Given the description of an element on the screen output the (x, y) to click on. 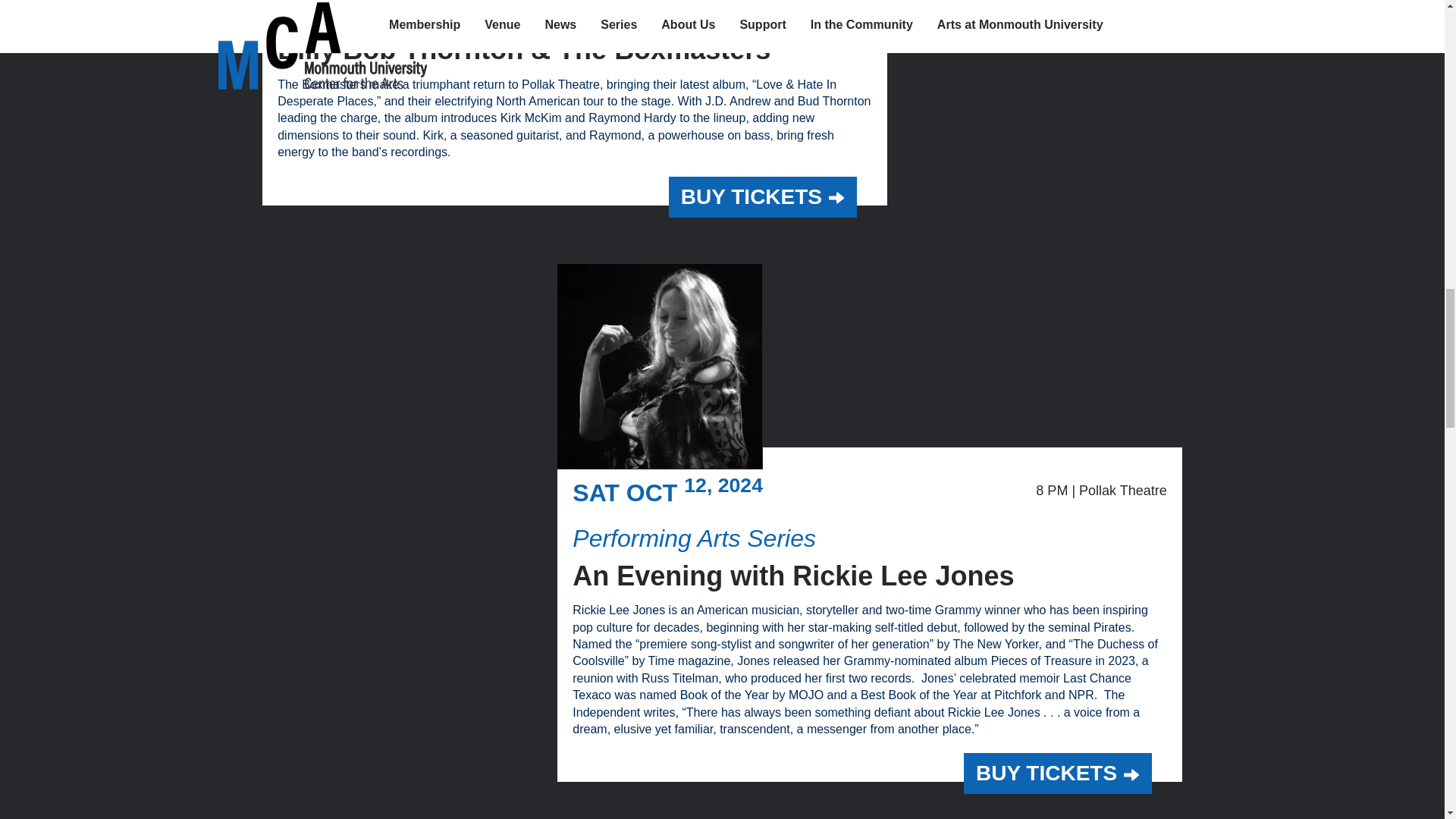
BUY TICKETS (1057, 772)
An Evening with Rickie Lee Jones (792, 575)
BUY TICKETS (762, 196)
